Given the description of an element on the screen output the (x, y) to click on. 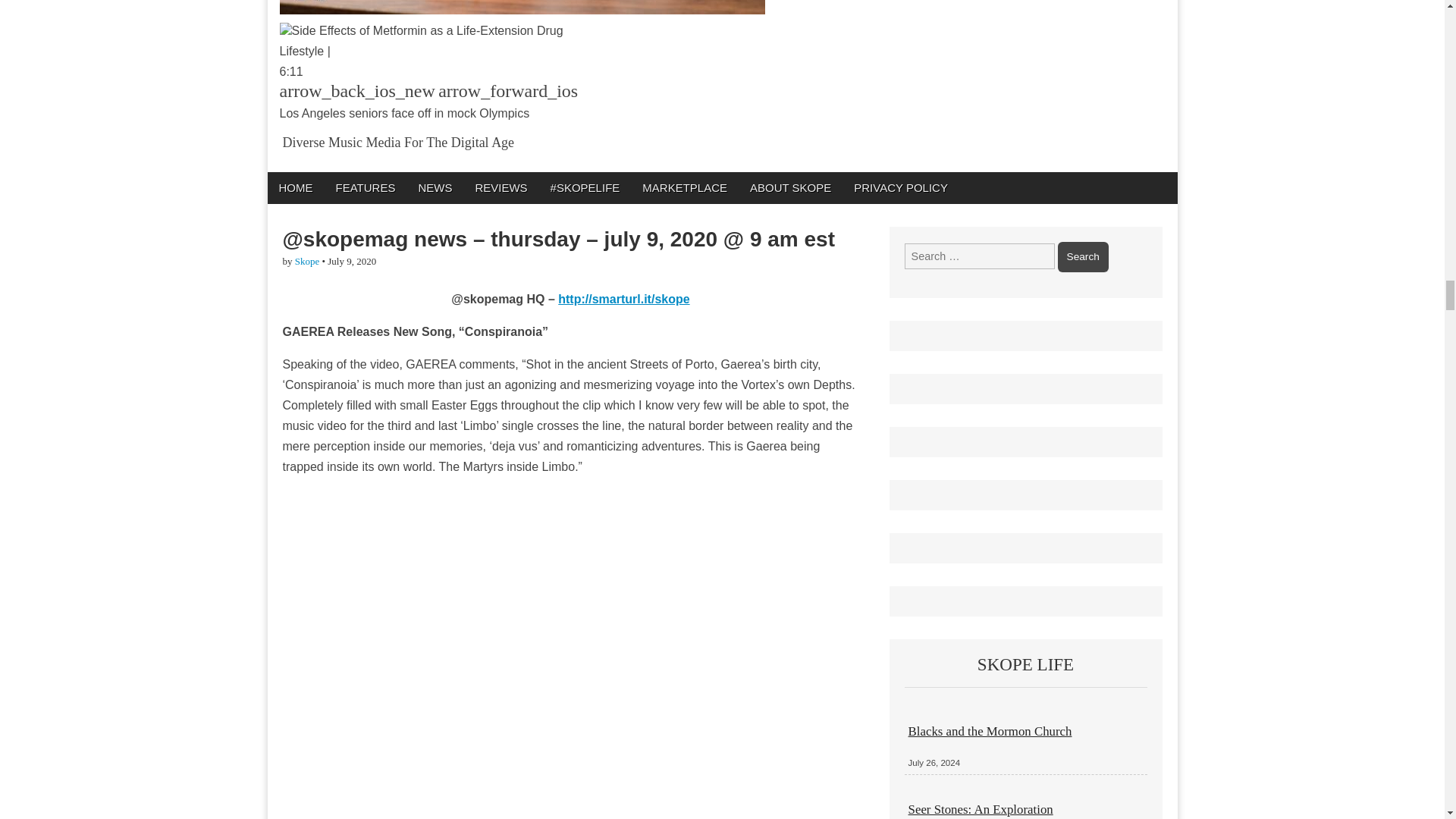
ABOUT SKOPE (790, 187)
Search (1083, 256)
FEATURES (365, 187)
Posts by Skope (307, 260)
Search (1083, 256)
PRIVACY POLICY (901, 187)
Search (1083, 256)
REVIEWS (500, 187)
Seer Stones: An Exploration (980, 809)
NEWS (434, 187)
Blacks and the Mormon Church (989, 730)
MARKETPLACE (684, 187)
HOME (294, 187)
